Given the description of an element on the screen output the (x, y) to click on. 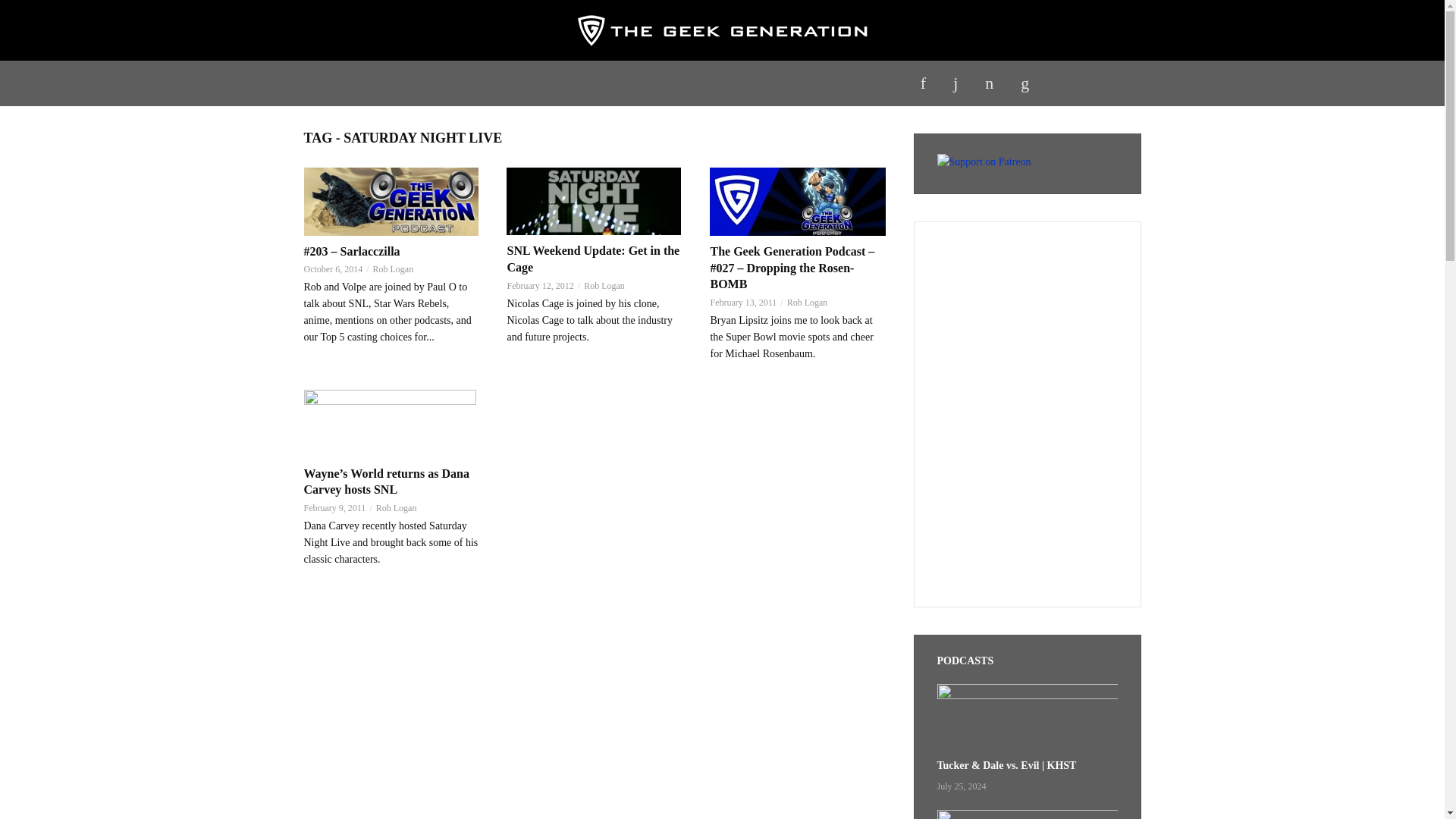
SNL Weekend Update: Get in the Cage (594, 201)
